Given the description of an element on the screen output the (x, y) to click on. 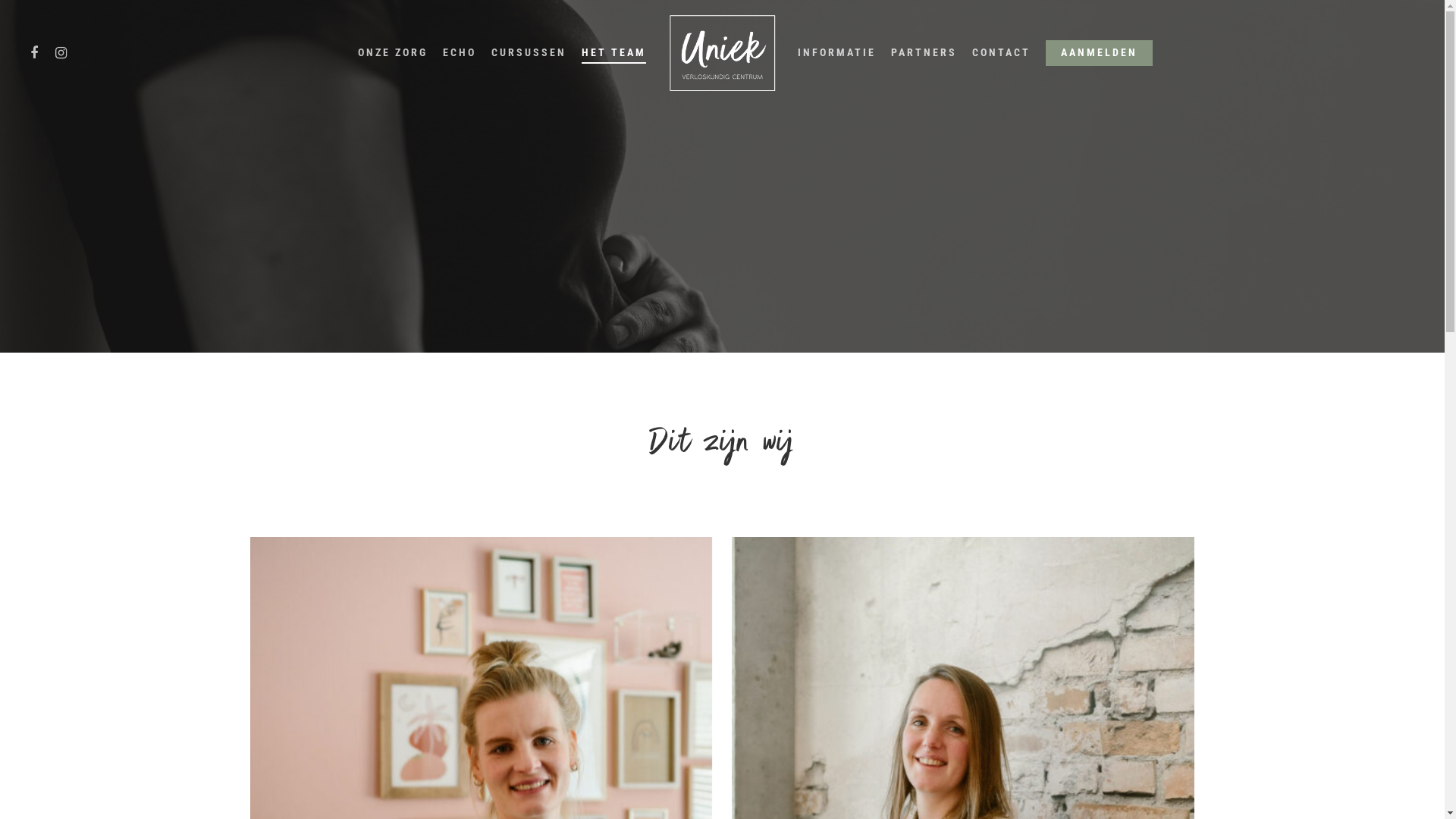
HET TEAM Element type: text (613, 52)
AANMELDEN Element type: text (1098, 52)
ECHO Element type: text (459, 52)
CONTACT Element type: text (1001, 52)
CURSUSSEN Element type: text (528, 52)
ONZE ZORG Element type: text (392, 52)
INFORMATIE Element type: text (836, 52)
PARTNERS Element type: text (924, 52)
